Given the description of an element on the screen output the (x, y) to click on. 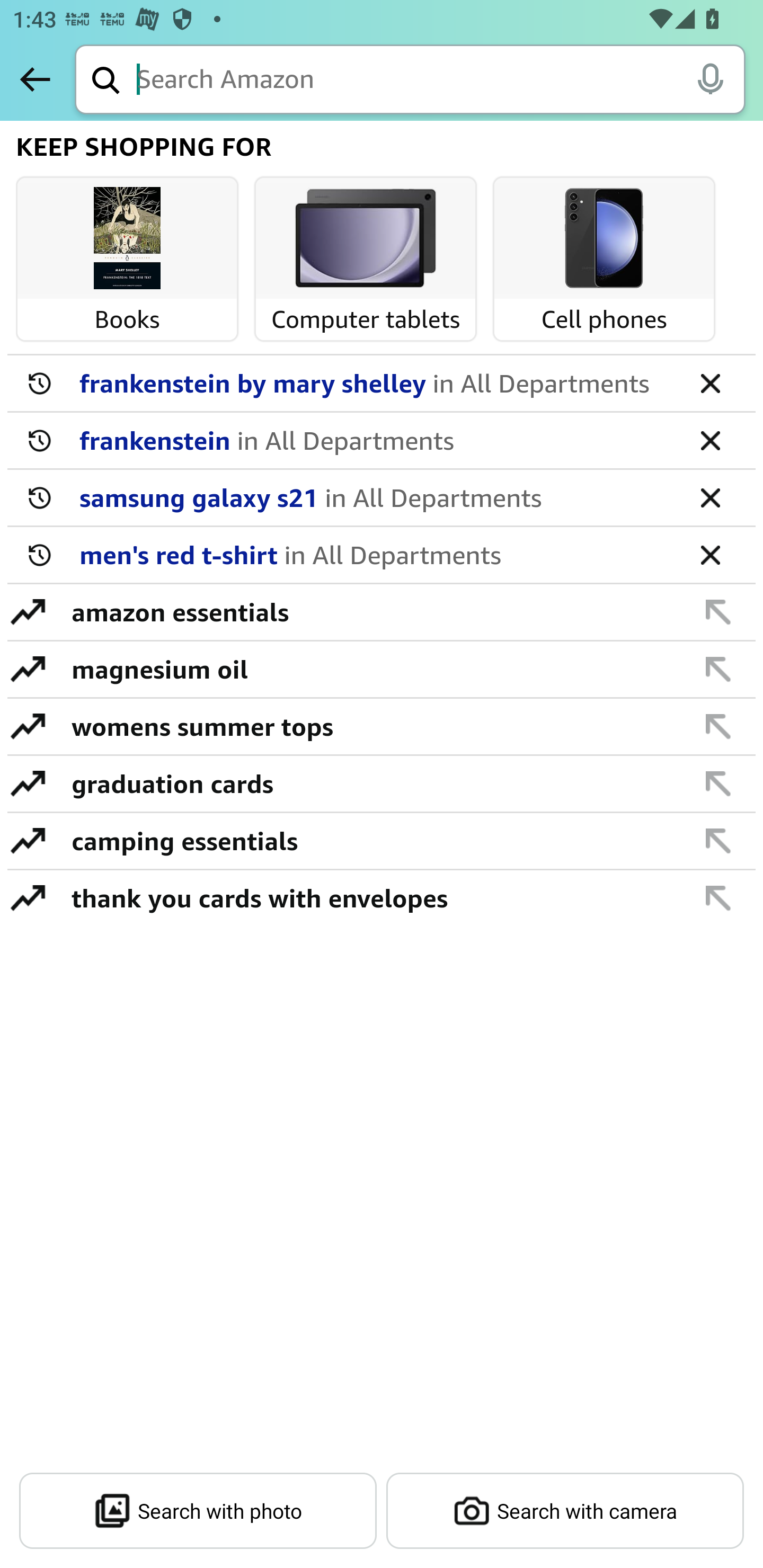
Search Amazon (440, 80)
Back (35, 78)
Alexa (710, 78)
Books Computer tablets Cell phones (383, 262)
Books (126, 238)
Computer tablets (365, 238)
Cell phones (603, 238)
frankenstein by mary shelley delete (381, 383)
frankenstein by mary shelley (374, 382)
delete (710, 382)
frankenstein delete (381, 440)
frankenstein (374, 439)
delete (710, 439)
samsung galaxy s21 delete (381, 497)
samsung galaxy s21 (374, 496)
delete (710, 496)
men's red t-shirt delete (381, 554)
men's red t-shirt (374, 554)
delete (710, 554)
amazon essentials append suggestion (381, 612)
amazon essentials (370, 611)
append suggestion (718, 611)
magnesium oil append suggestion (381, 669)
magnesium oil (370, 668)
append suggestion (718, 668)
womens summer tops append suggestion (381, 726)
womens summer tops (370, 725)
append suggestion (718, 725)
graduation cards append suggestion (381, 783)
graduation cards (370, 783)
append suggestion (718, 783)
camping essentials append suggestion (381, 841)
camping essentials (370, 840)
append suggestion (718, 840)
thank you cards with envelopes append suggestion (381, 897)
thank you cards with envelopes (370, 897)
append suggestion (718, 897)
Search with photo (197, 1510)
Search with camera (564, 1510)
